Given the description of an element on the screen output the (x, y) to click on. 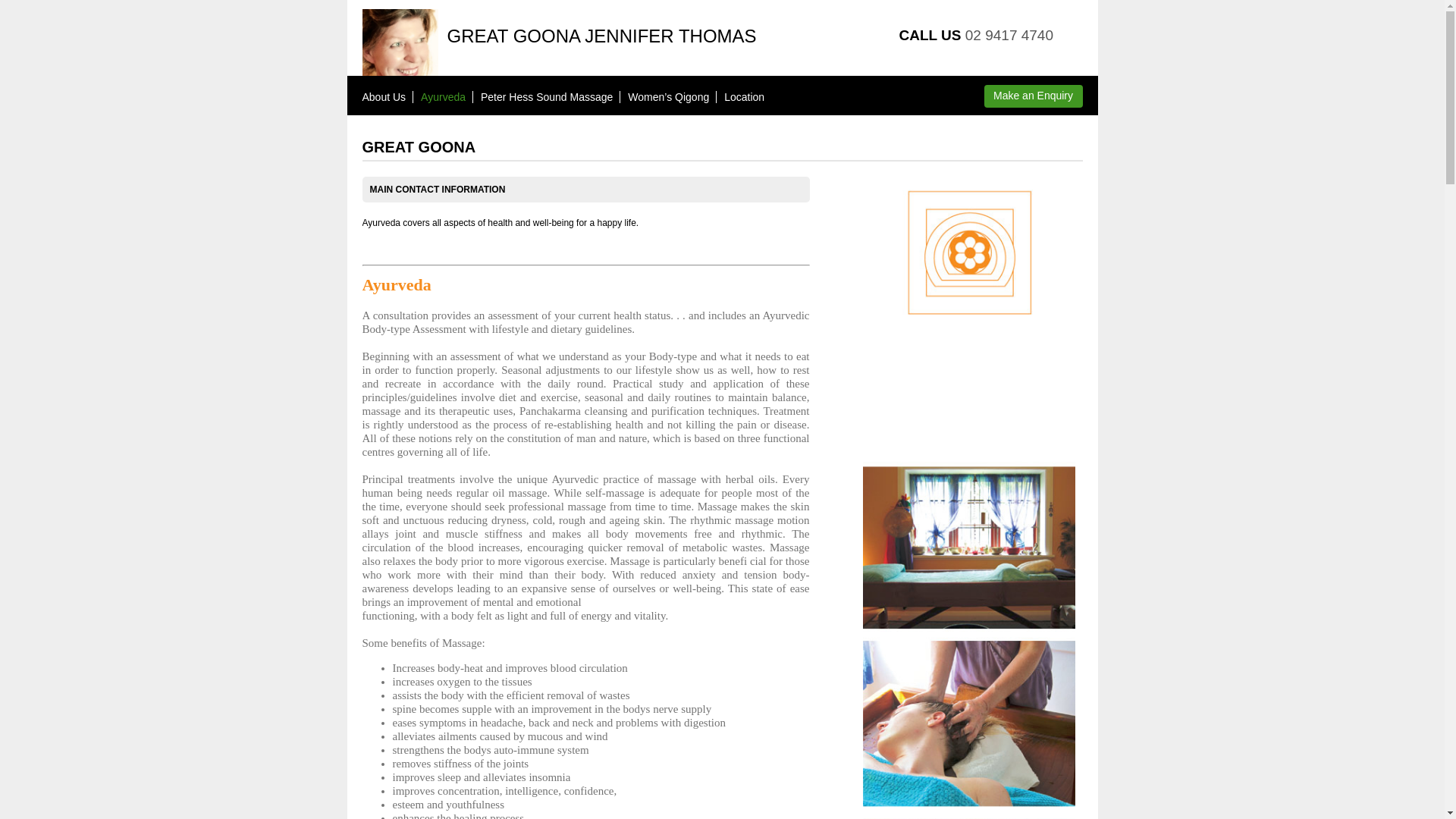
Make an Enquiry Element type: text (1033, 95)
Location Element type: text (744, 97)
About Us Element type: text (384, 97)
MAIN CONTACT INFORMATION Element type: text (445, 189)
GREAT GOONA JENNIFER THOMAS Element type: text (601, 35)
Peter Hess Sound Massage Element type: text (546, 97)
Ayurveda Element type: text (442, 97)
